Given the description of an element on the screen output the (x, y) to click on. 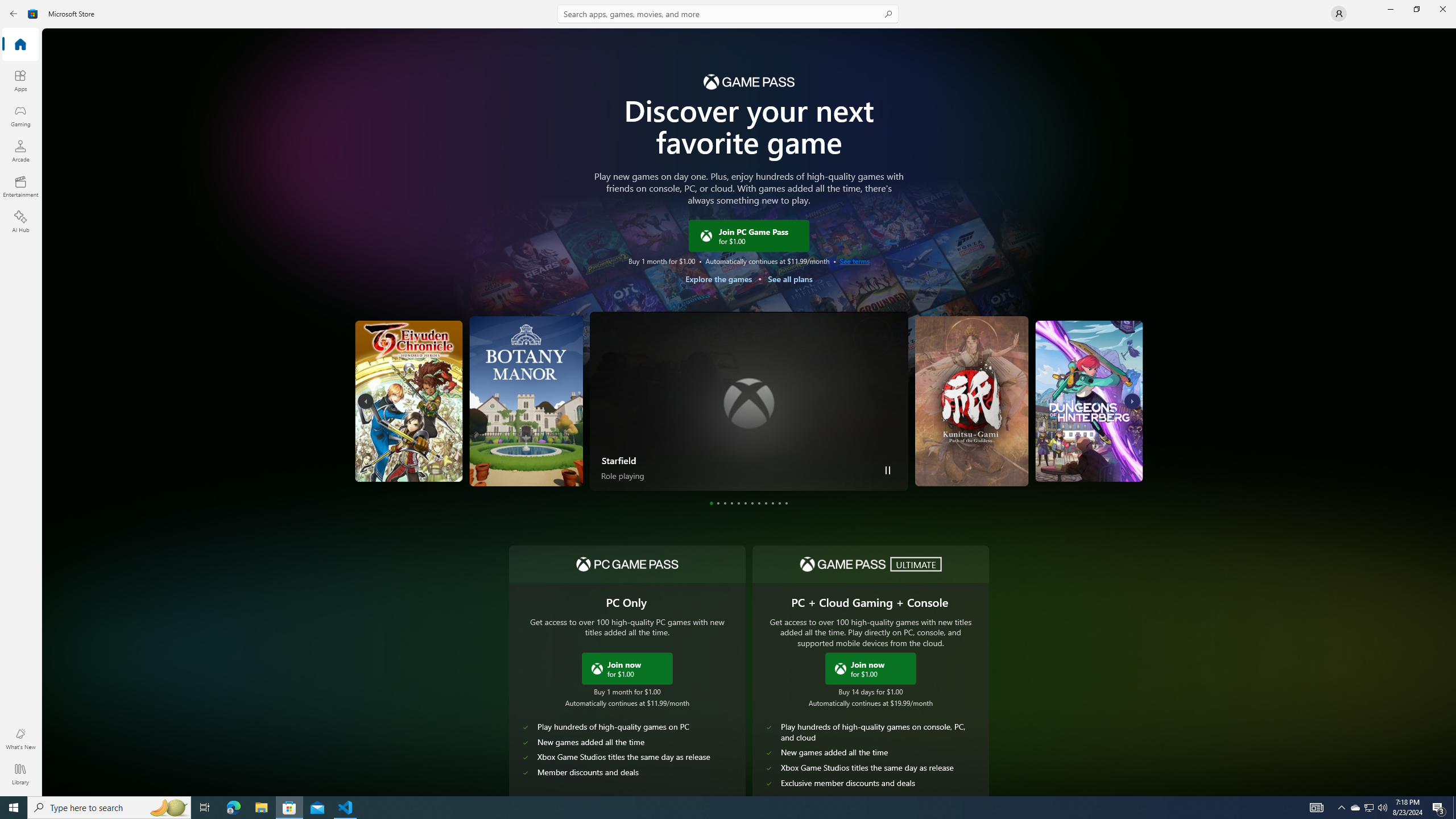
Kunitsu-Gami: Path of the Goddess (974, 401)
See all plans (789, 278)
Page 3 (725, 503)
Pause Trailer (887, 469)
Botany Manor (413, 456)
Page 1 (710, 503)
Dungeons Of Hinterberg (1044, 401)
Eiyuden Chronicle: Hundred Heroes (381, 453)
Search (727, 13)
Eiyuden Chronicle: Hundred Heroes (453, 401)
Page 7 (751, 503)
Flintlock: The Siege of Dawn (1107, 451)
AutomationID: GamePosterBackground (748, 286)
Dungeons Of Hinterberg (1002, 453)
